Given the description of an element on the screen output the (x, y) to click on. 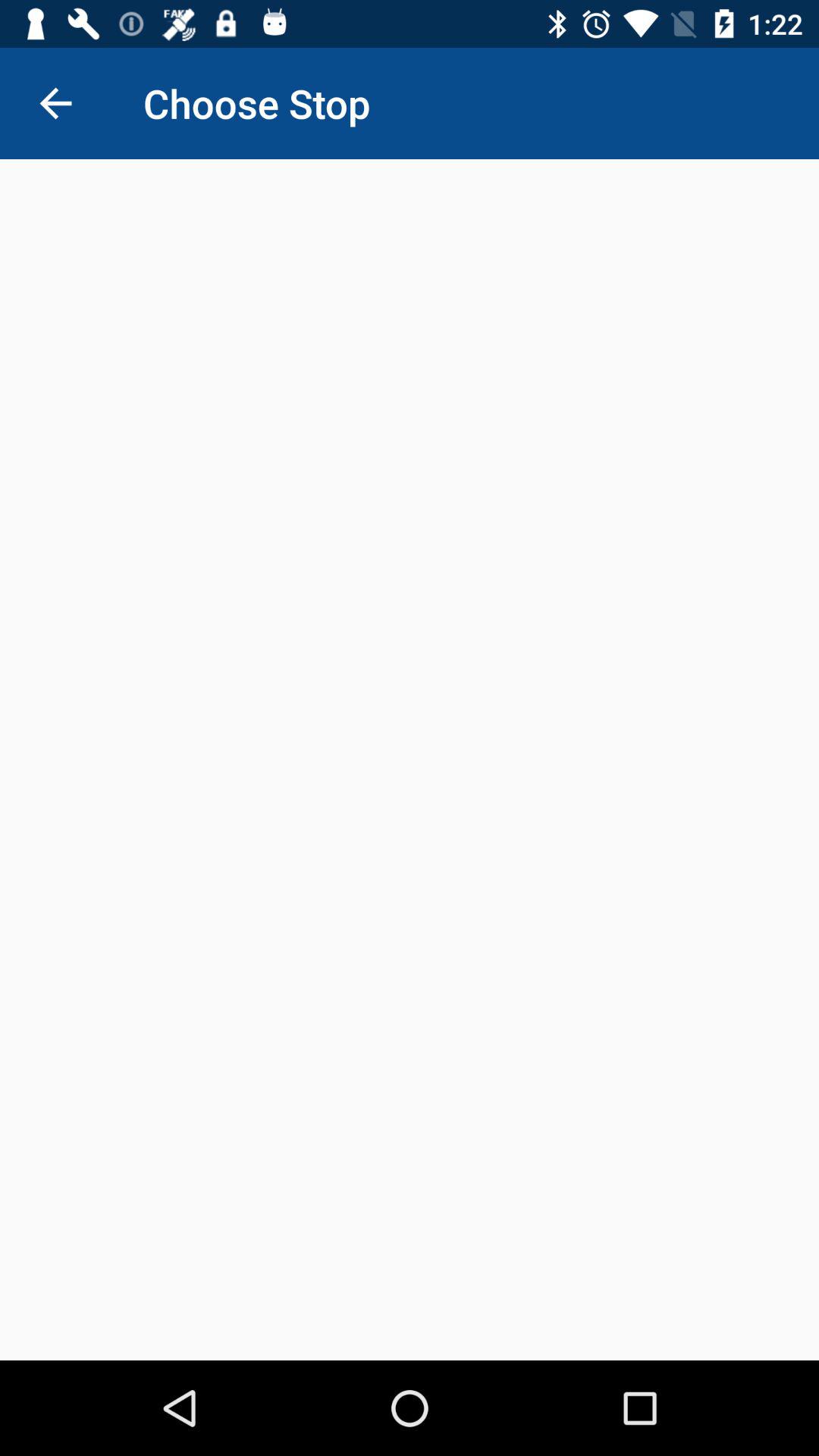
select the icon at the center (409, 759)
